Given the description of an element on the screen output the (x, y) to click on. 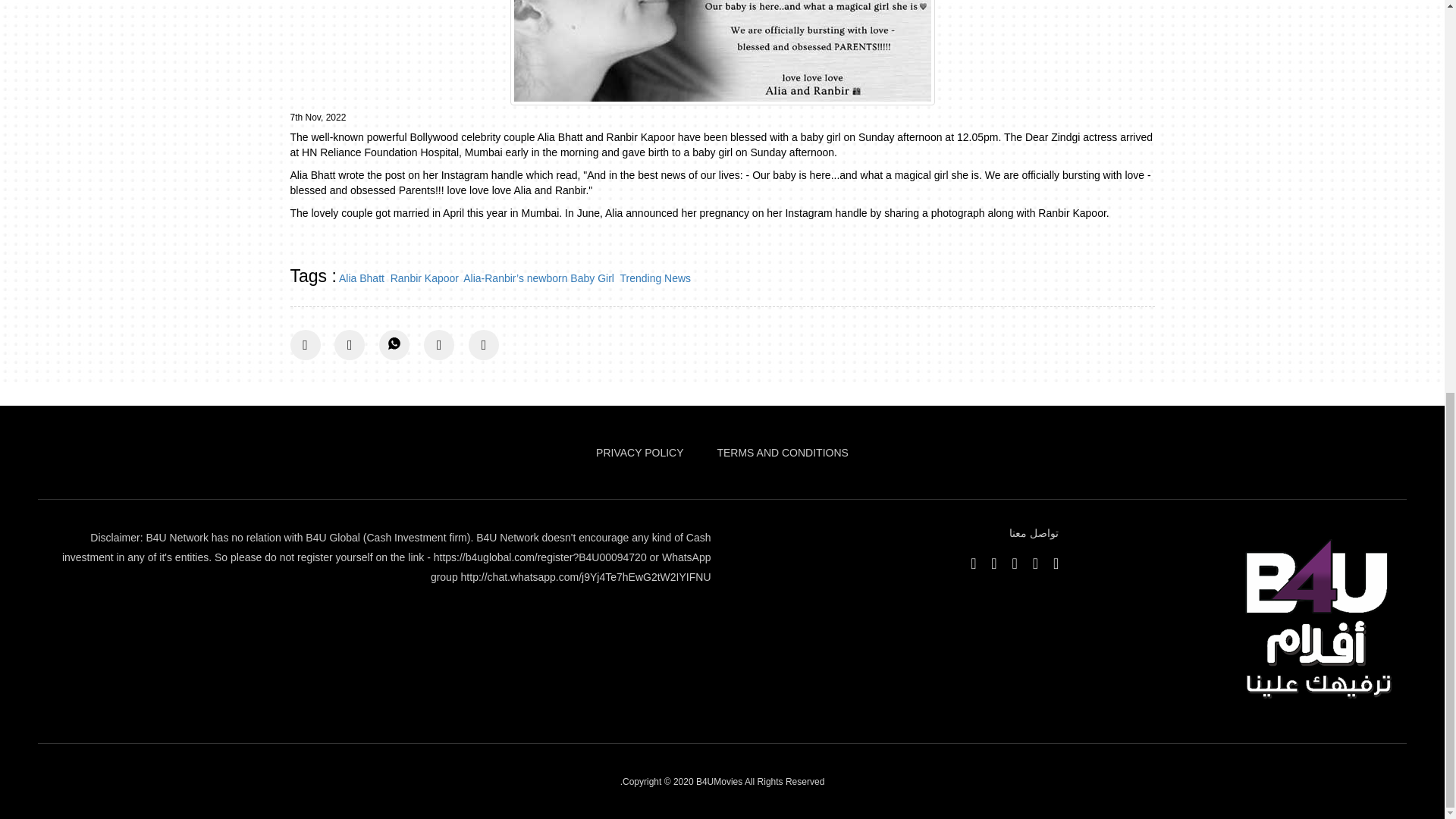
Trending News (655, 277)
PRIVACY POLICY (638, 452)
Alia Bhatt (361, 277)
Ranbir Kapoor (424, 277)
TERMS AND CONDITIONS (781, 452)
